Given the description of an element on the screen output the (x, y) to click on. 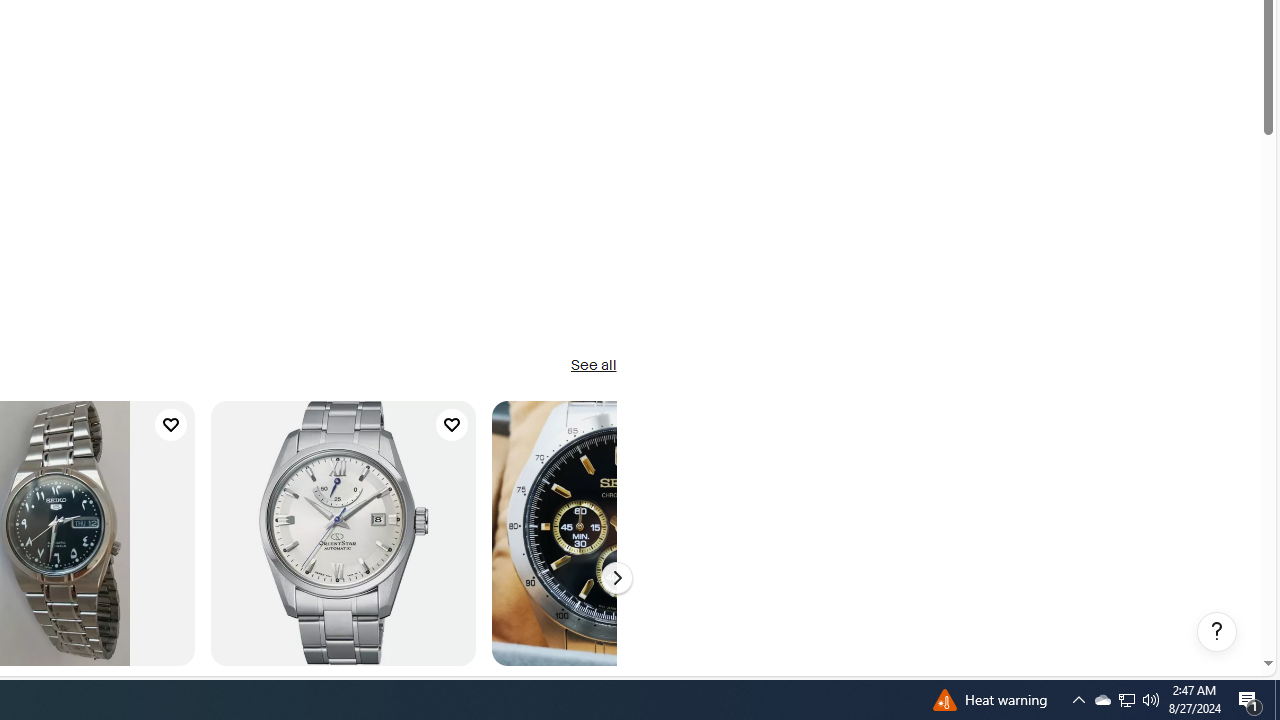
See all (592, 366)
Help, opens dialogs (1217, 632)
Go to the next slide, Wristwatches - Carousel (616, 578)
